Given the description of an element on the screen output the (x, y) to click on. 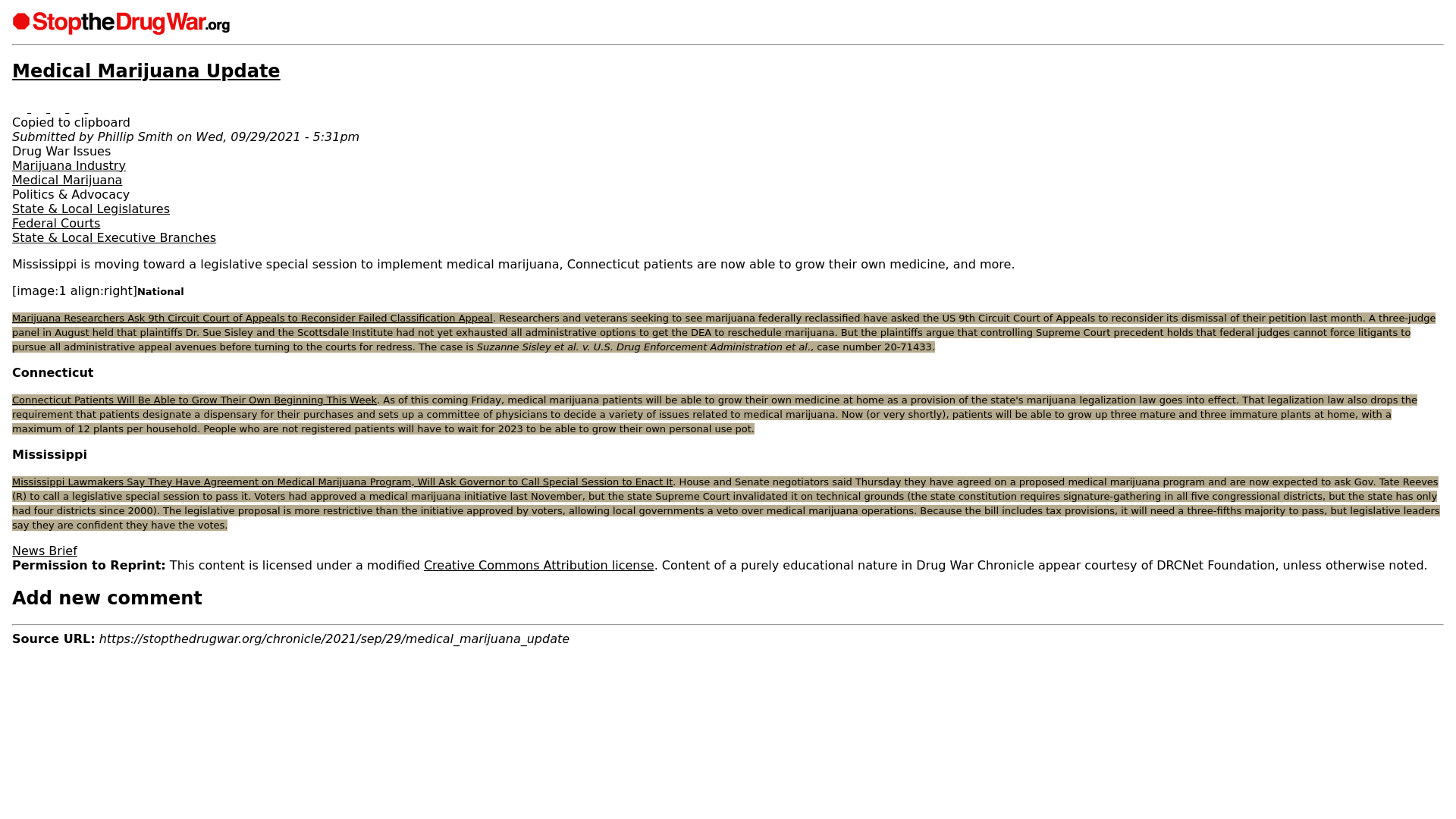
Federal Courts (55, 223)
Share to Linkedin (39, 107)
Medical Marijuana (66, 179)
Medical Marijuana Update (146, 70)
Share to Email (77, 107)
Marijuana Industry (68, 165)
Creative Commons Attribution license (538, 564)
